Given the description of an element on the screen output the (x, y) to click on. 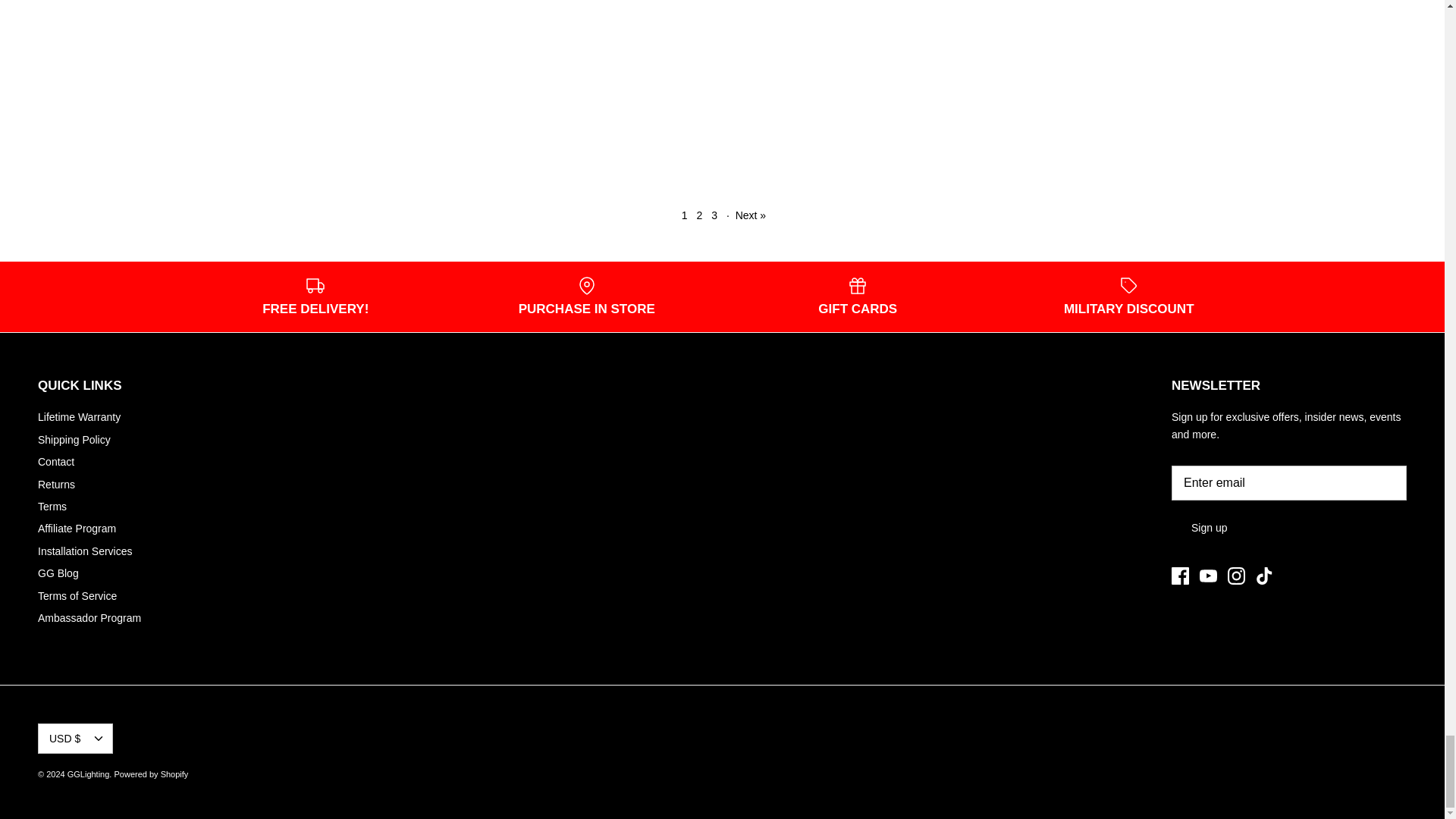
Down (97, 738)
Youtube (1208, 575)
Label (1128, 285)
Facebook (1180, 575)
Instagram (1235, 575)
